Given the description of an element on the screen output the (x, y) to click on. 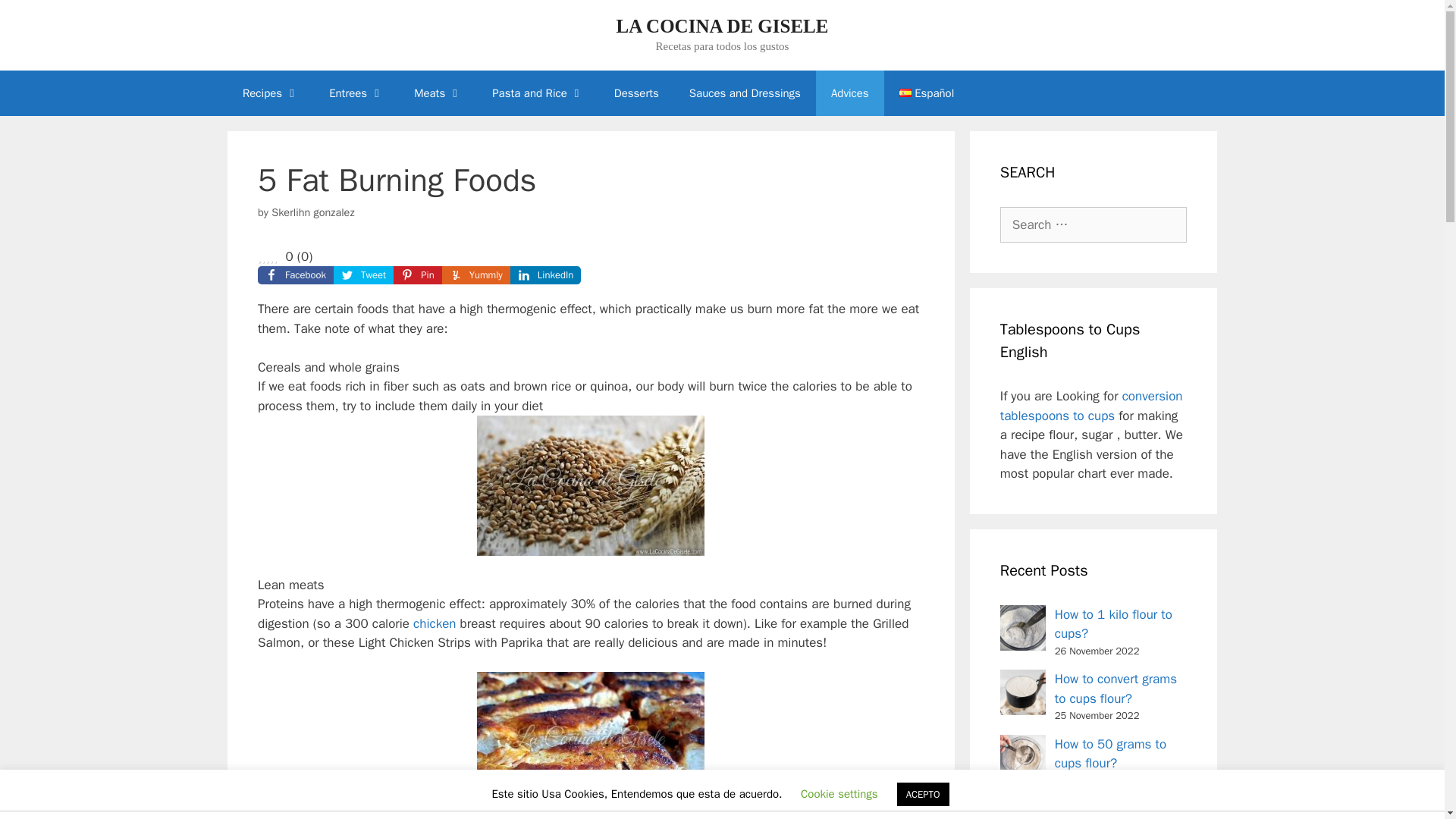
Meats (437, 92)
Recipes (270, 92)
Sauces and Dressings (744, 92)
Search for: (1093, 224)
Entrees (356, 92)
LA COCINA DE GISELE (721, 25)
Pin (417, 275)
View all posts by Skerlihn gonzalez (311, 212)
Yummly (476, 275)
Tweet (363, 275)
